Given the description of an element on the screen output the (x, y) to click on. 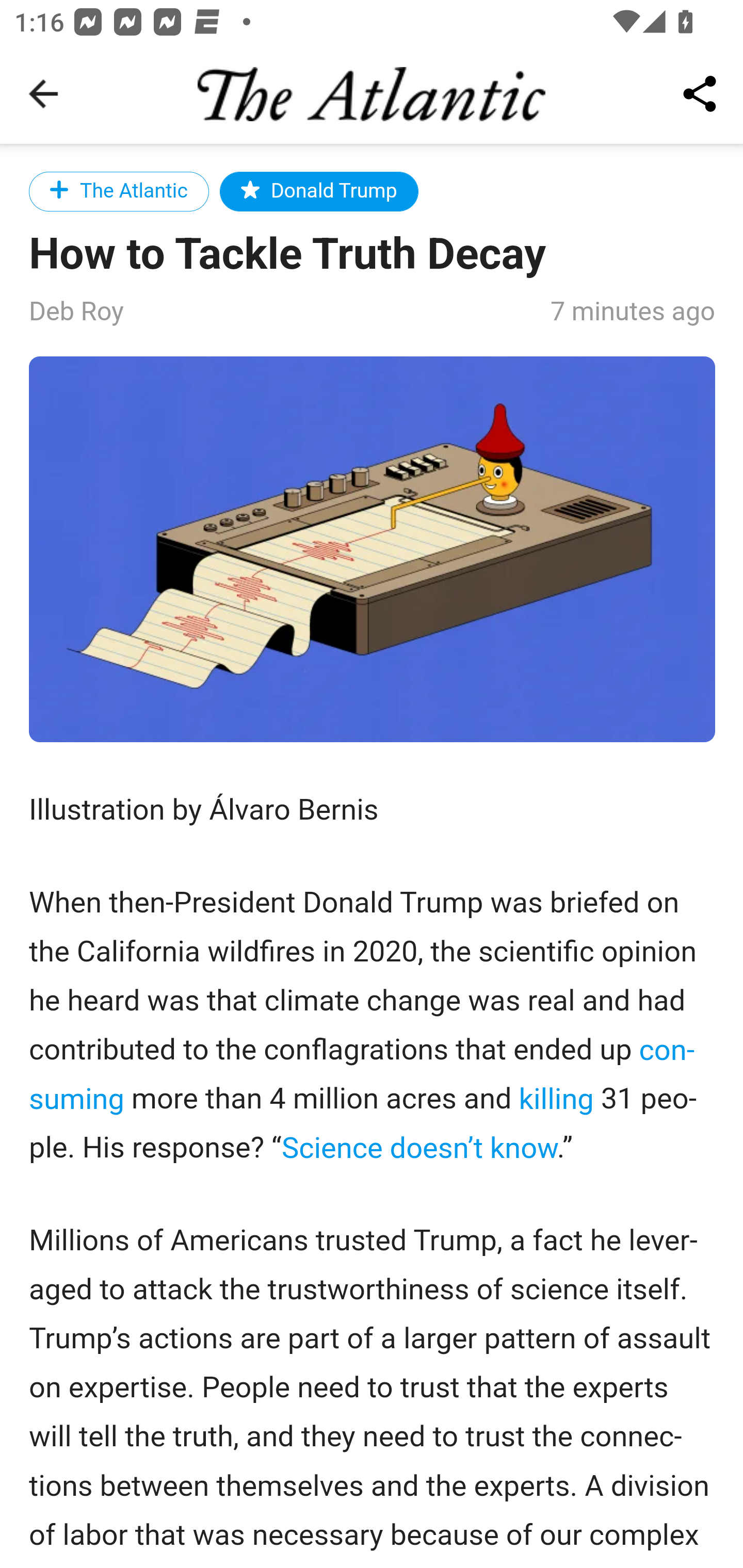
The Atlantic (118, 191)
Donald Trump (318, 191)
consuming (361, 1073)
killing (555, 1098)
Science doesn’t know (418, 1147)
